Given the description of an element on the screen output the (x, y) to click on. 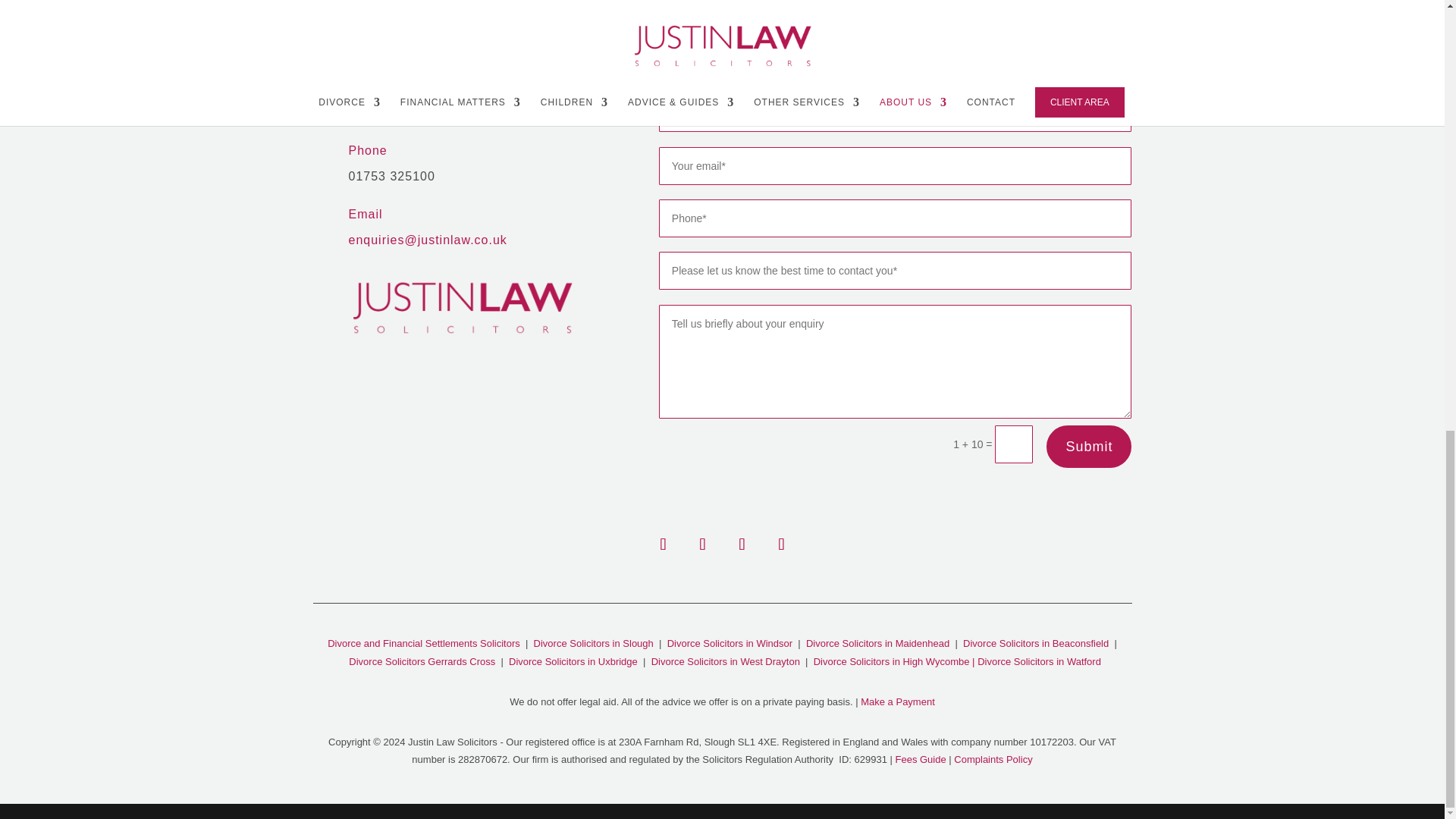
email (427, 239)
Follow on LinkedIn (741, 544)
Follow on Facebook (662, 544)
Follow on Instagram (702, 544)
Follow on X (780, 544)
justinlaw-new (462, 305)
